Given the description of an element on the screen output the (x, y) to click on. 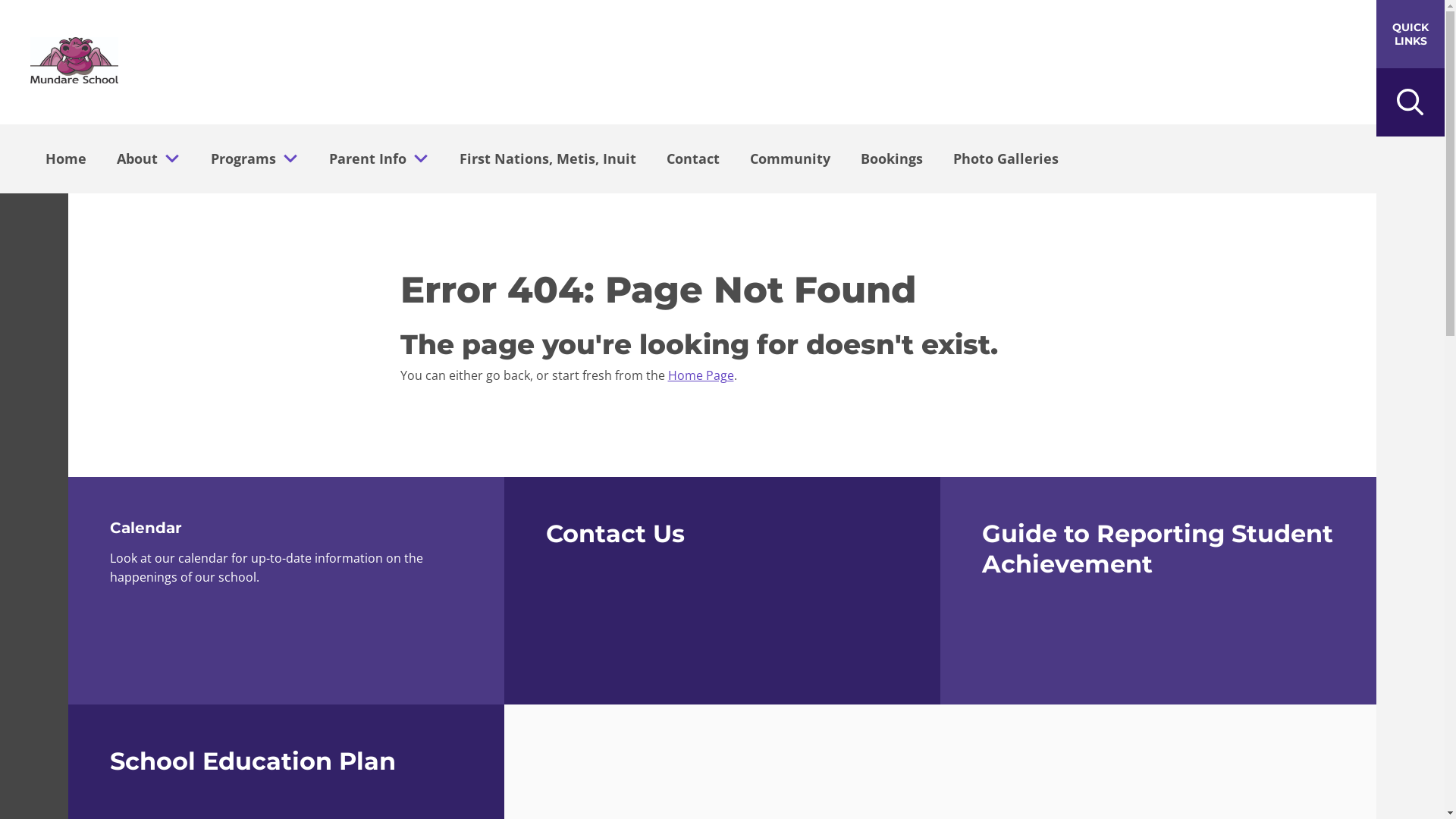
About Element type: text (132, 158)
Photo Galleries Element type: text (1005, 158)
home Element type: hover (74, 62)
Bookings Element type: text (891, 158)
Community Element type: text (789, 158)
Guide to Reporting Student Achievement Element type: text (1158, 590)
First Nations, Metis, Inuit Element type: text (547, 158)
Contact Element type: text (692, 158)
QUICK LINKS Element type: text (1410, 34)
Home Page Element type: text (700, 375)
Programs Element type: text (238, 158)
Contact Us Element type: text (722, 590)
Home Element type: text (65, 158)
Parent Info Element type: text (362, 158)
